Given the description of an element on the screen output the (x, y) to click on. 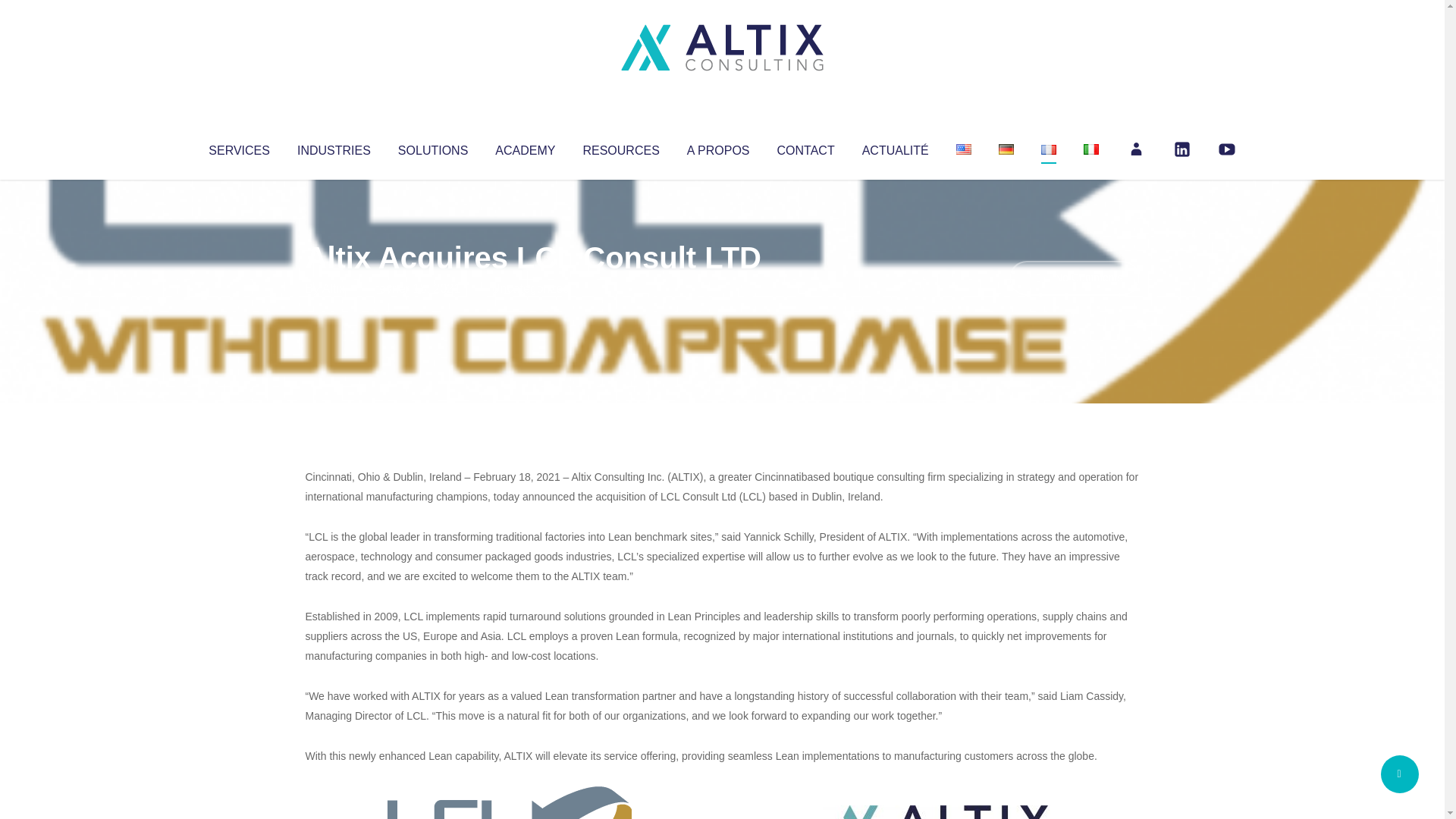
No Comments (1073, 278)
Articles par Altix (333, 287)
SERVICES (238, 146)
SOLUTIONS (432, 146)
Altix (333, 287)
INDUSTRIES (334, 146)
Uncategorized (530, 287)
RESOURCES (620, 146)
ACADEMY (524, 146)
A PROPOS (718, 146)
